Given the description of an element on the screen output the (x, y) to click on. 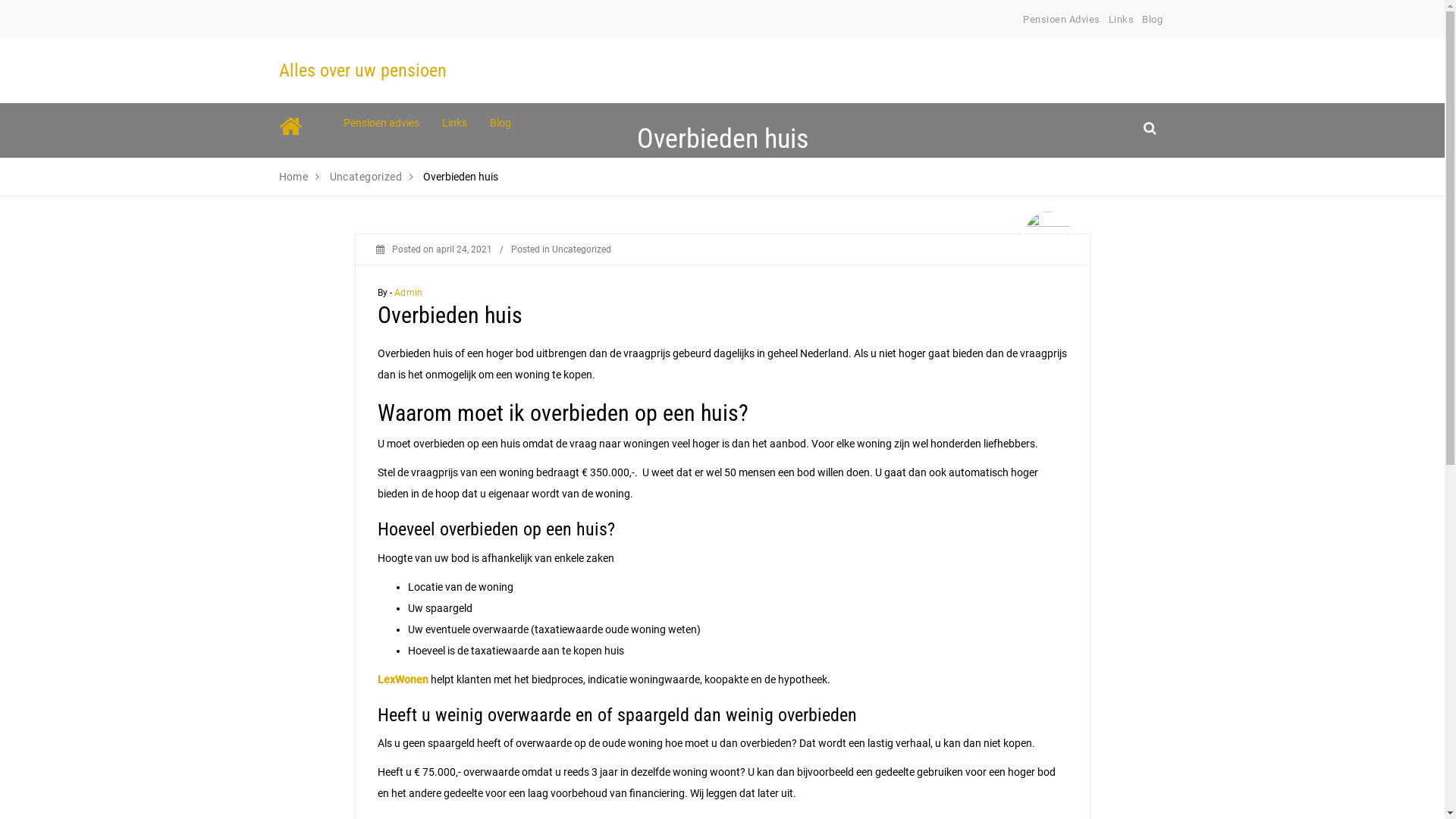
Admin Element type: text (408, 292)
search_icon Element type: hover (1148, 127)
Blog Element type: text (499, 122)
Pensioen advies Element type: text (381, 122)
LexWonen Element type: text (403, 679)
Links Element type: text (1121, 19)
Home Element type: text (293, 176)
Links Element type: text (454, 122)
Uncategorized Element type: text (365, 176)
Blog Element type: text (1152, 19)
Uncategorized Element type: text (581, 249)
Pensioen Advies Element type: text (1061, 19)
Alles over uw pensioen Element type: text (362, 70)
